Given the description of an element on the screen output the (x, y) to click on. 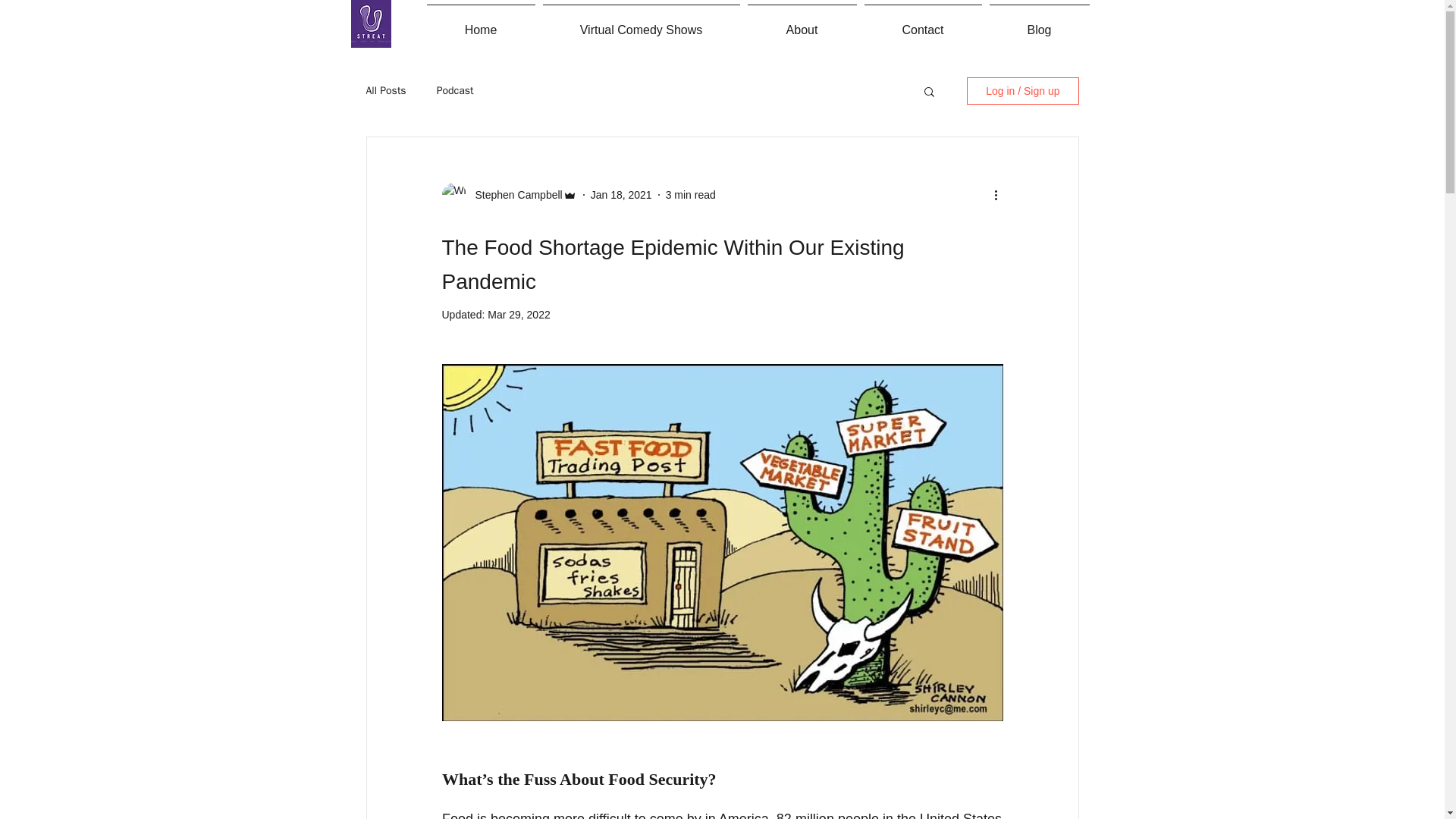
All Posts (385, 90)
Stephen Campbell (513, 194)
Mar 29, 2022 (518, 314)
Jan 18, 2021 (621, 193)
Blog (1039, 23)
3 min read (690, 193)
Podcast (455, 90)
Contact (922, 23)
Home (480, 23)
About (801, 23)
